Given the description of an element on the screen output the (x, y) to click on. 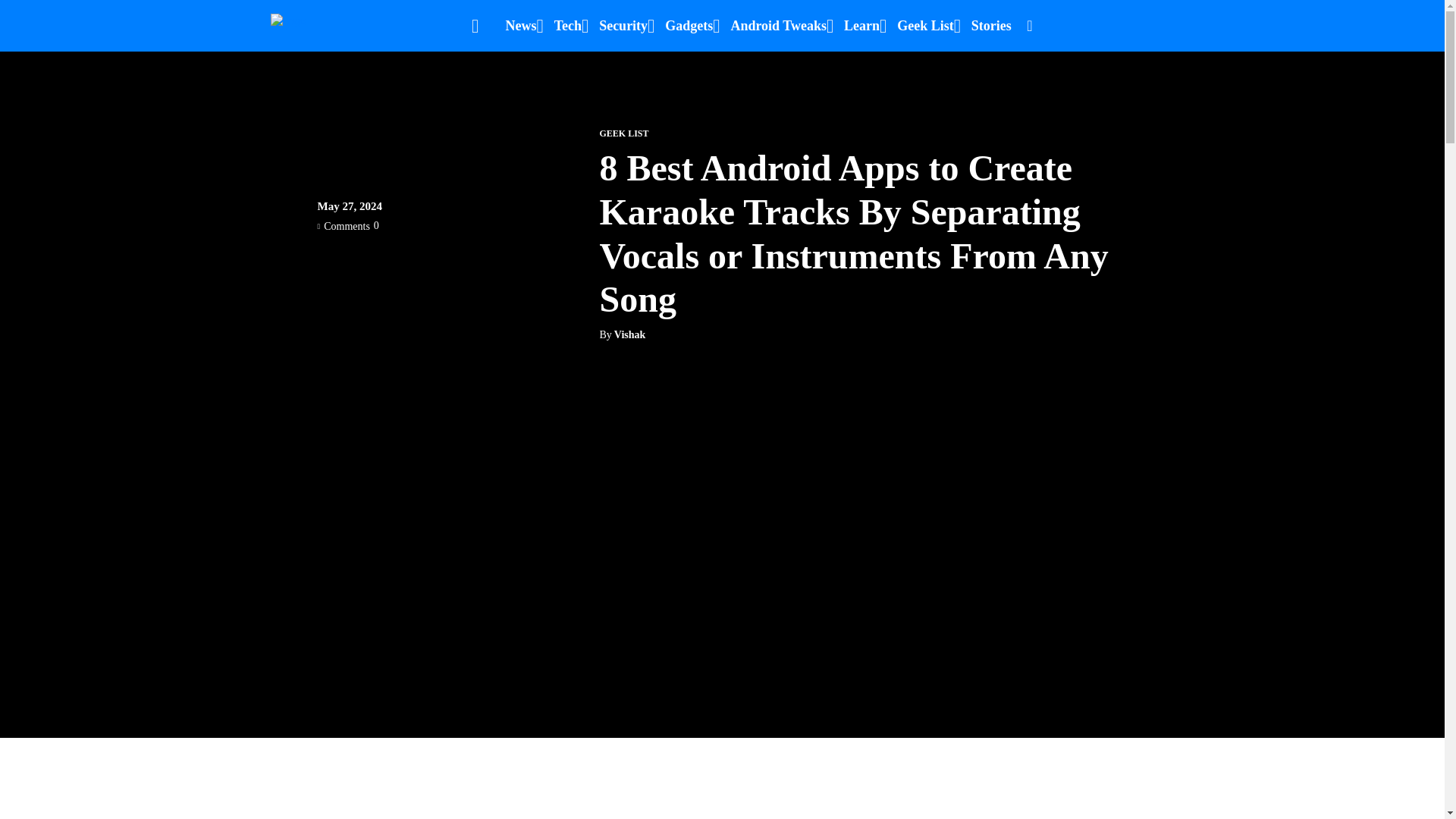
Gadgets (689, 25)
Vishak (630, 335)
Geek List (924, 25)
Stories (991, 25)
GEEK LIST (622, 132)
Android Tweaks (778, 25)
Learn (861, 25)
Security (622, 25)
Comments0 (347, 225)
